Given the description of an element on the screen output the (x, y) to click on. 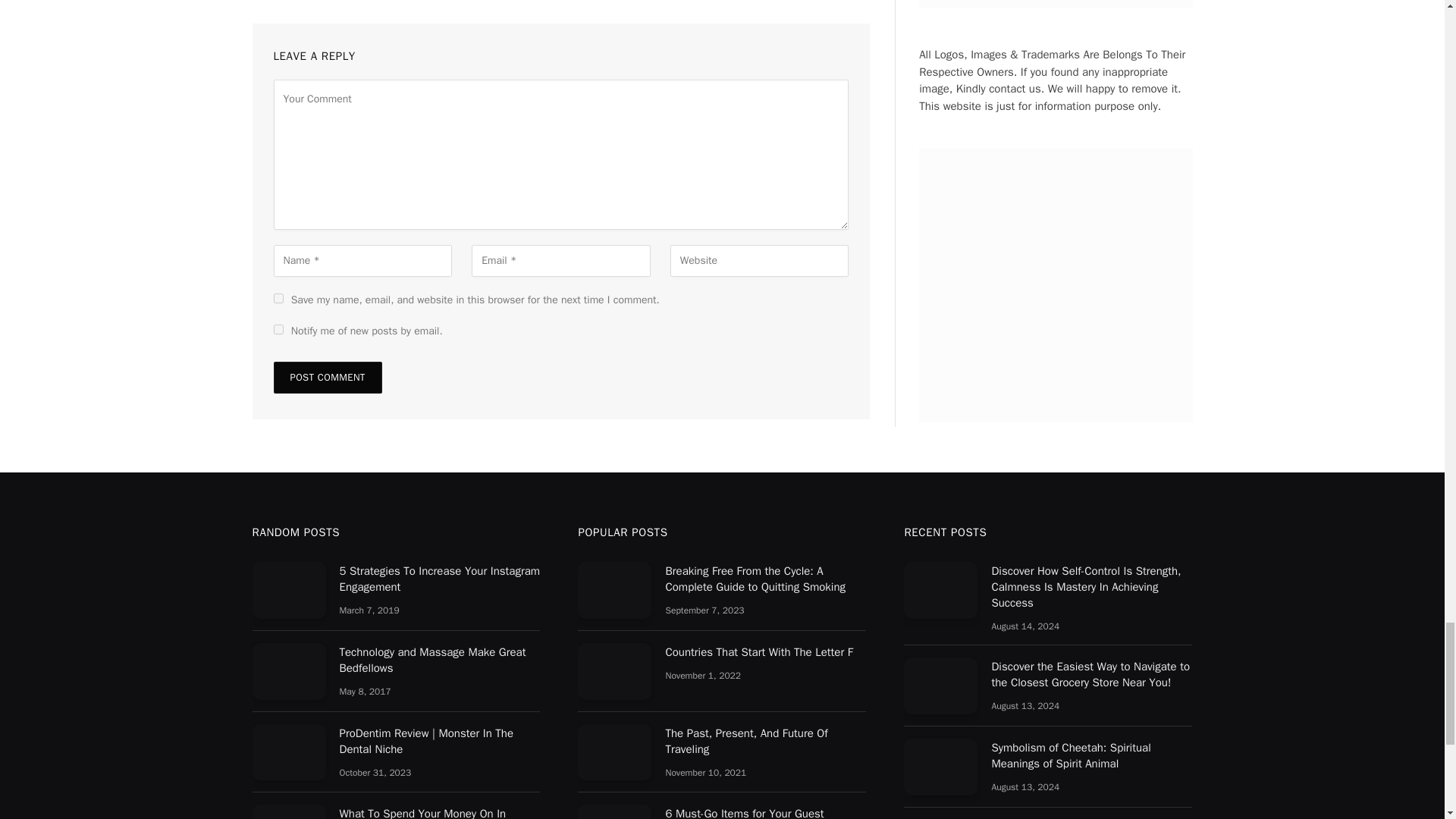
Post Comment (327, 377)
yes (277, 298)
subscribe (277, 329)
